Given the description of an element on the screen output the (x, y) to click on. 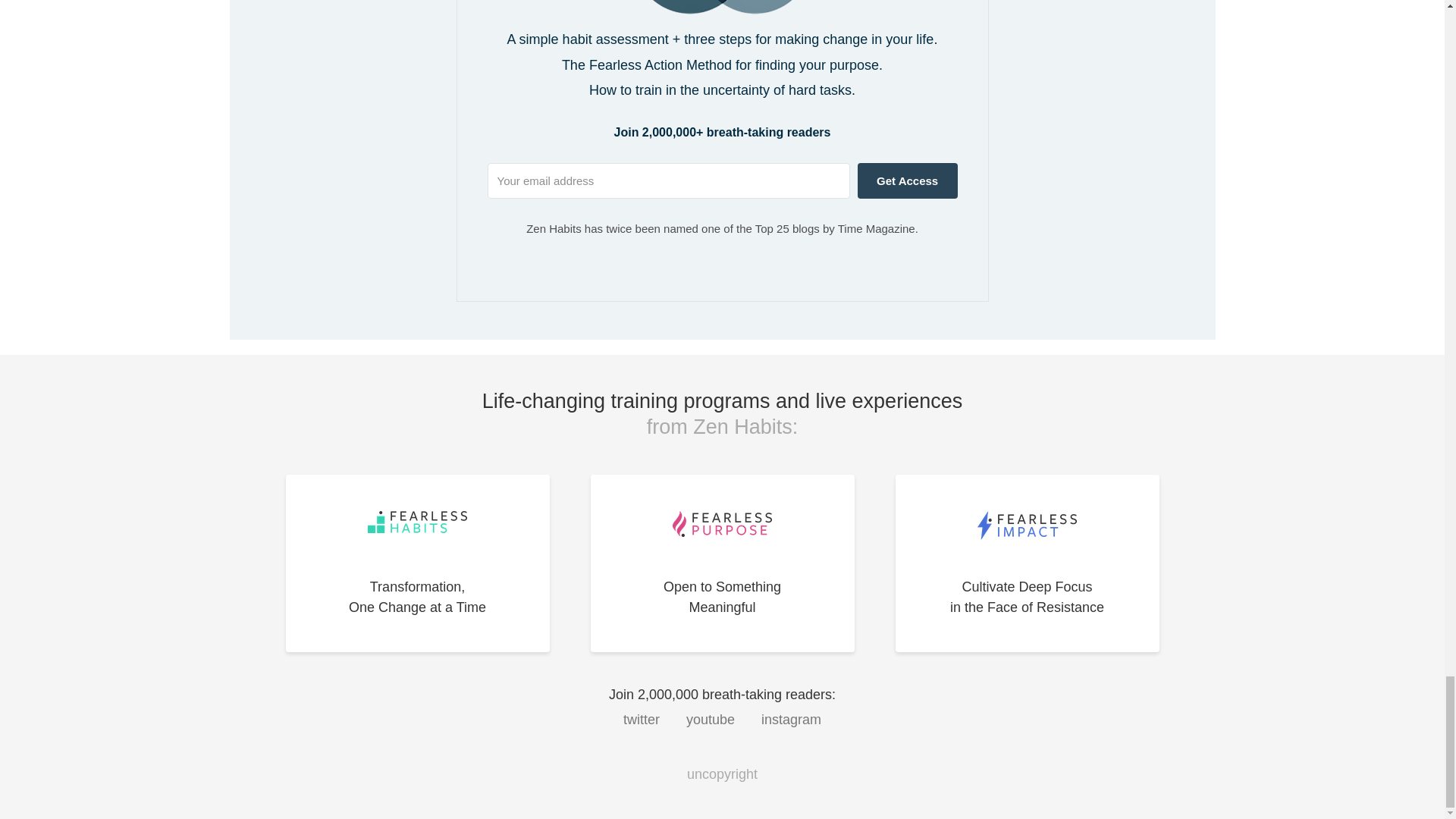
youtube (416, 563)
instagram (710, 719)
Get Access (791, 719)
twitter (907, 180)
uncopyright (721, 563)
